Given the description of an element on the screen output the (x, y) to click on. 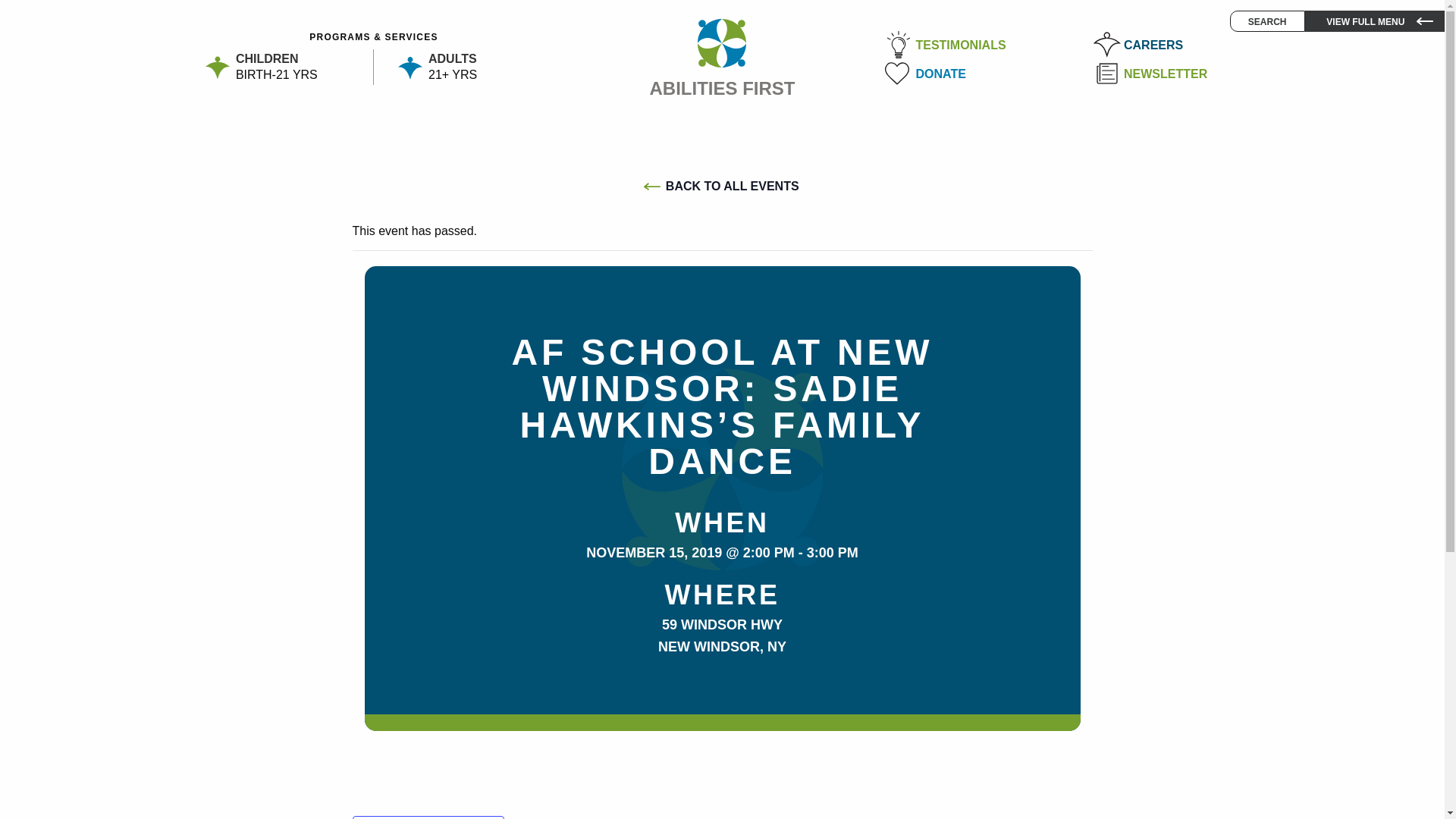
CAREERS (1197, 45)
DONATE (989, 71)
TESTIMONIALS (989, 45)
SEARCH (280, 65)
NEWSLETTER (1267, 20)
ABILITIES FIRST (1197, 74)
